Given the description of an element on the screen output the (x, y) to click on. 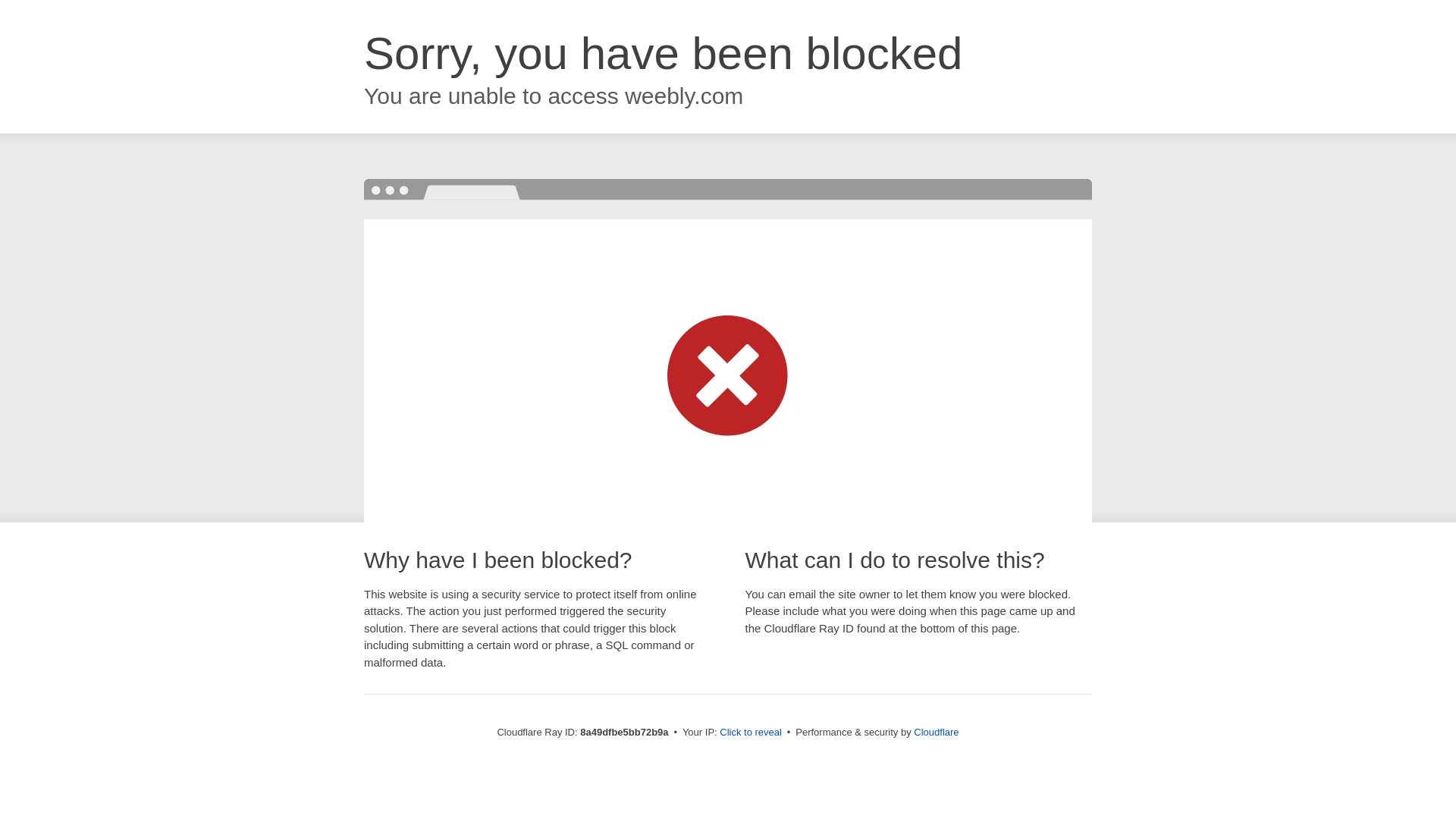
Cloudflare (936, 731)
Click to reveal (750, 732)
